Given the description of an element on the screen output the (x, y) to click on. 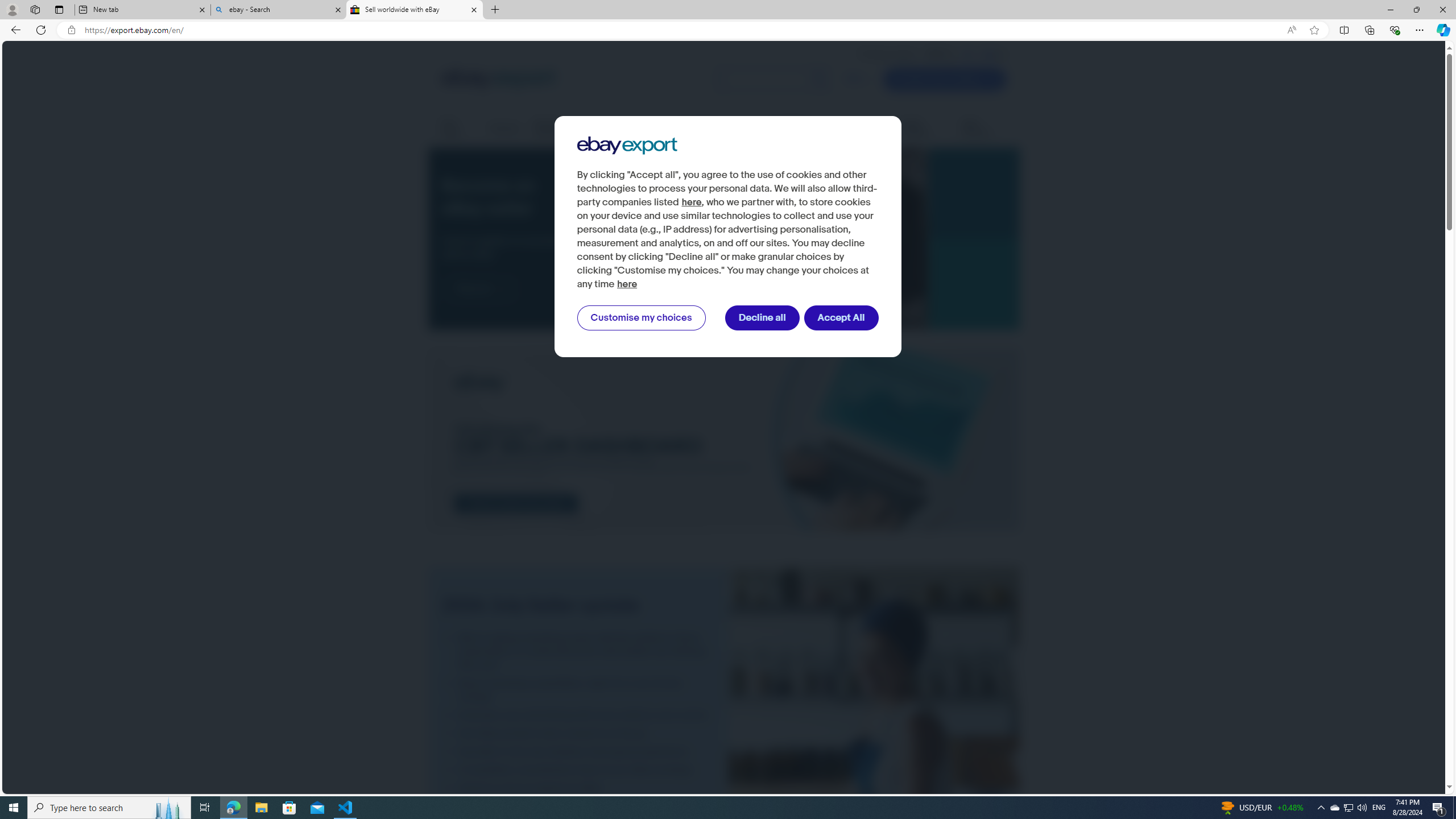
Sell worldwide with eBay (414, 9)
Seller updates (924, 128)
Venmo is now accepted on eBay (578, 787)
More marketing capabilities, right from your Active Listings (578, 690)
Marketing (869, 127)
SEA (989, 53)
IN (967, 53)
First steps (457, 128)
Find out (480, 288)
Customise my choices (641, 317)
Empower your advertising with more metrics and control (578, 715)
